Given the description of an element on the screen output the (x, y) to click on. 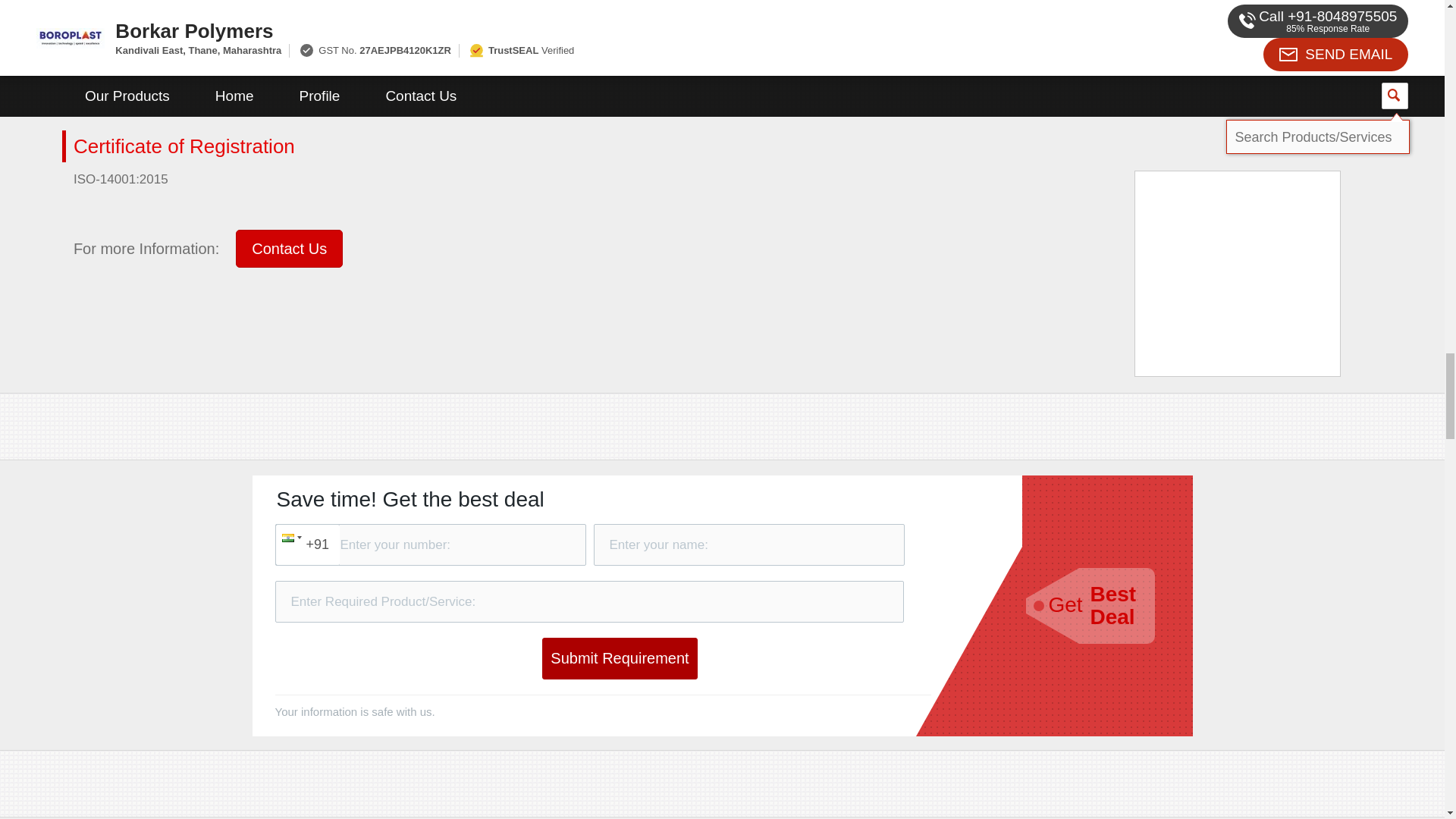
Submit Requirement (619, 658)
Submit Requirement (619, 658)
Enter your name: (748, 544)
Enter your number: (430, 544)
